Given the description of an element on the screen output the (x, y) to click on. 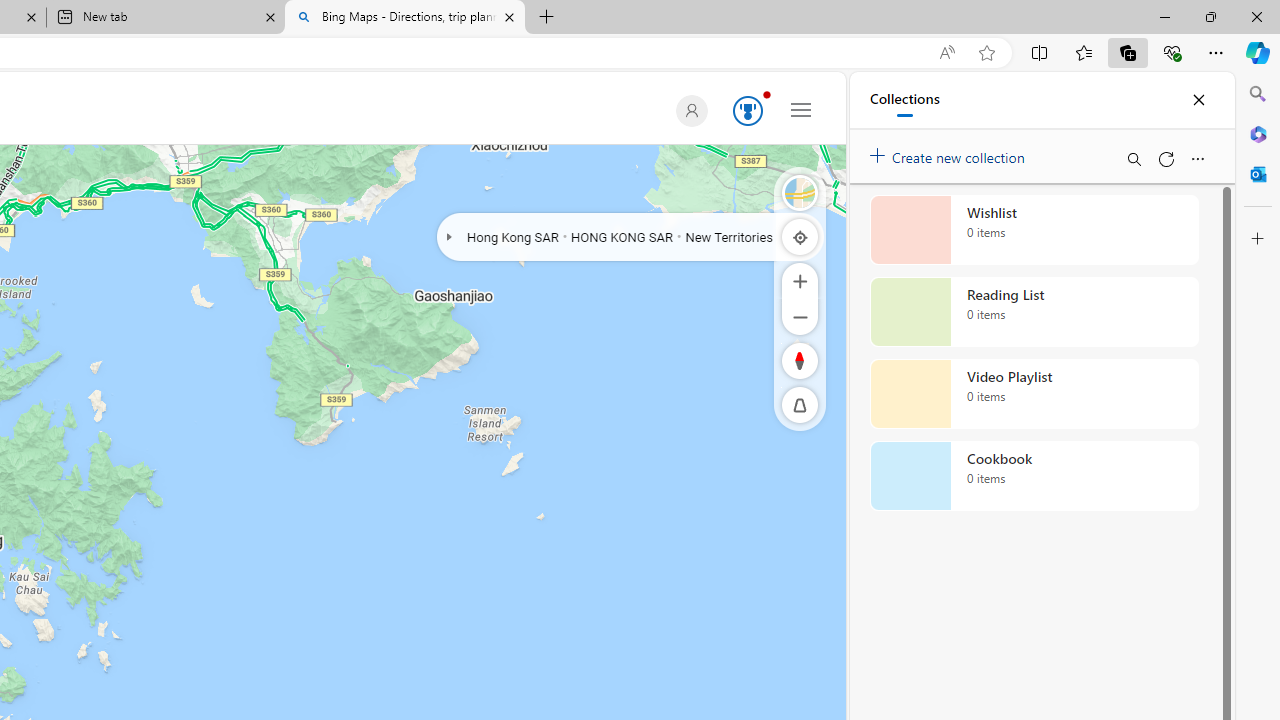
Rotate Right (780, 360)
Road (799, 192)
